Given the description of an element on the screen output the (x, y) to click on. 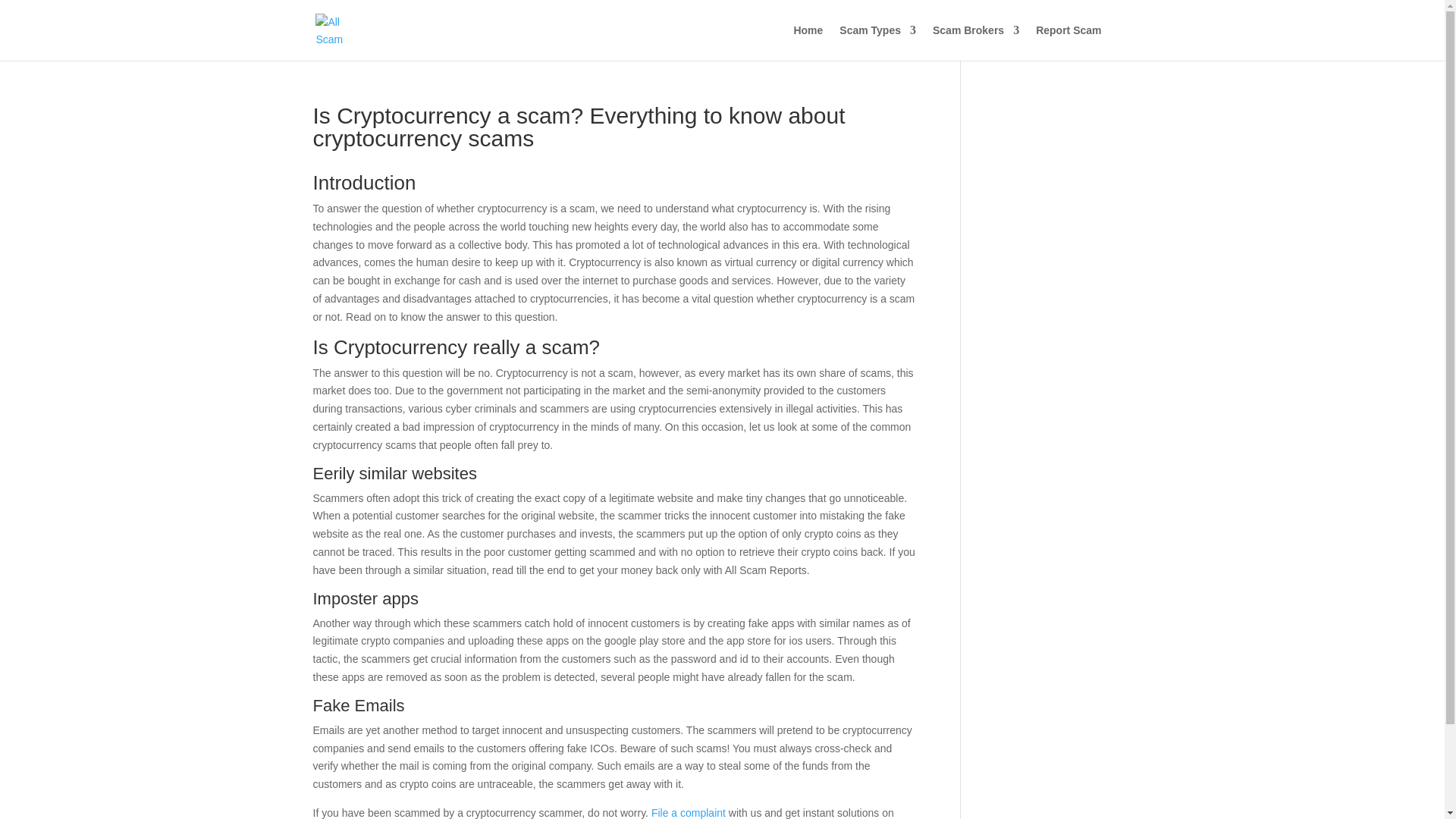
Scam Brokers (976, 42)
Report Scam (1067, 42)
File a complaint (687, 812)
Scam Types (877, 42)
